Given the description of an element on the screen output the (x, y) to click on. 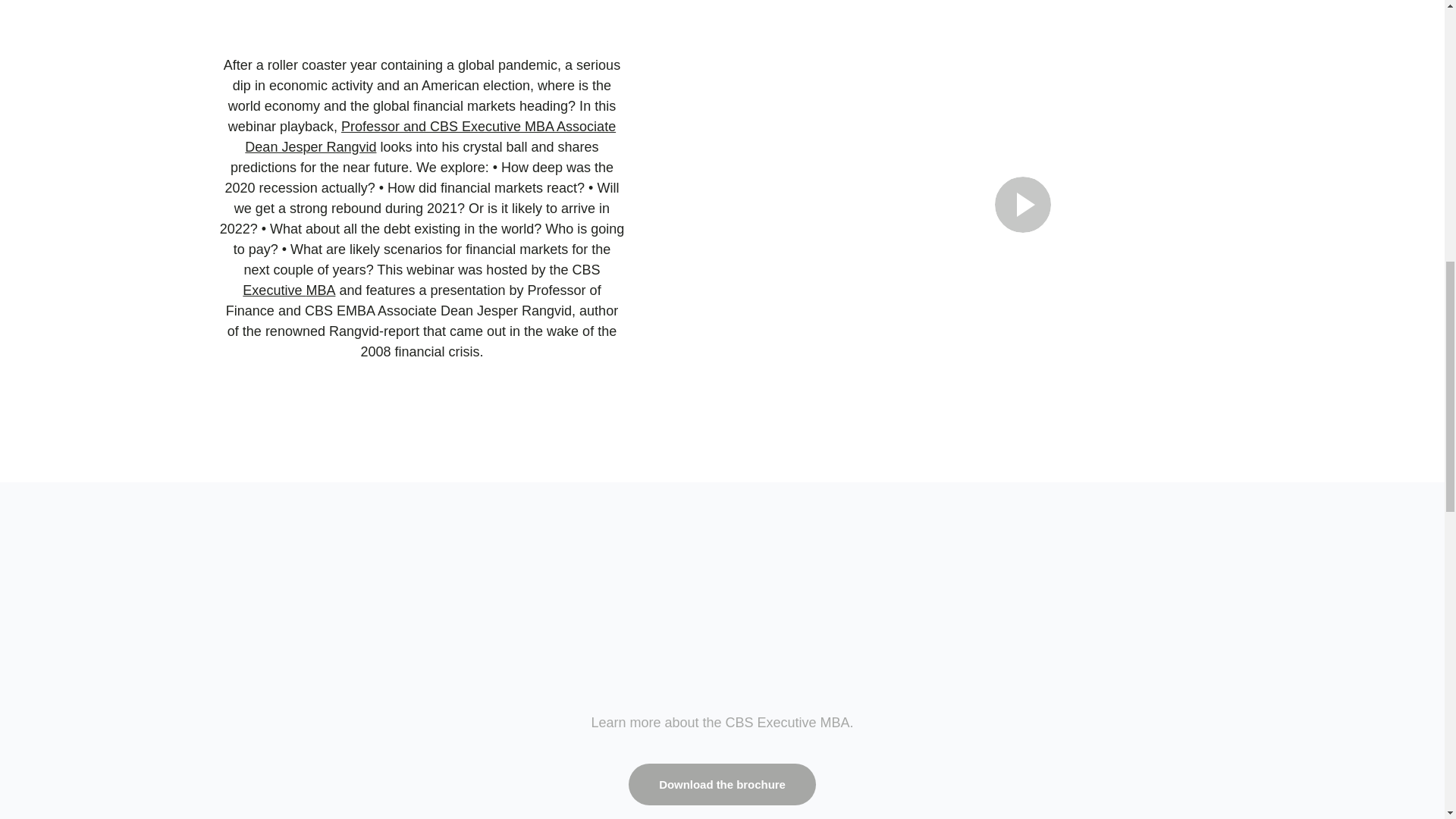
MBA (319, 290)
Download the brochure (721, 784)
Executive  (274, 290)
